Given the description of an element on the screen output the (x, y) to click on. 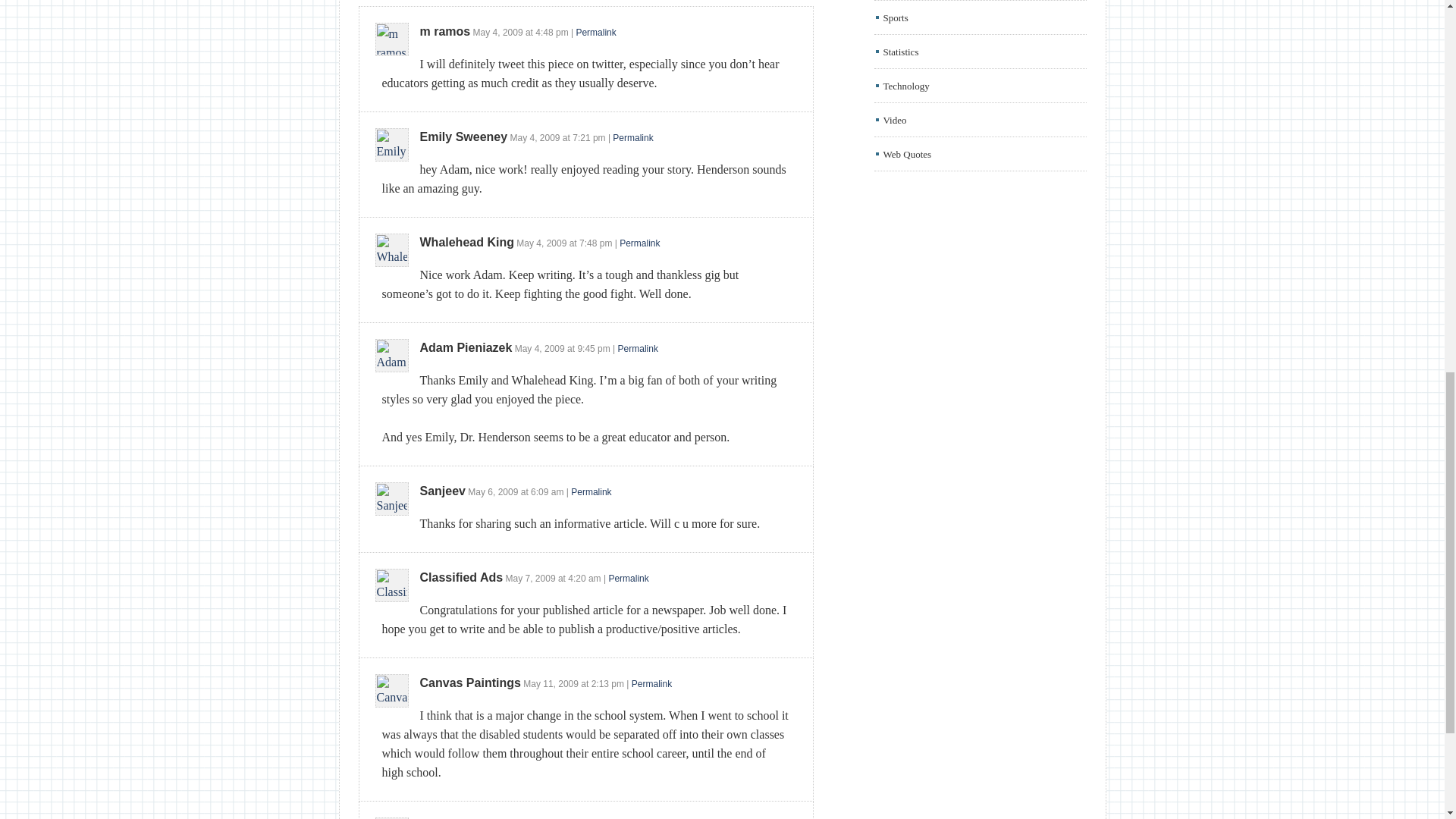
Permalink (627, 578)
Permalink (632, 137)
Whalehead King (466, 241)
Permalink (590, 491)
Permalink to comment 28036 (595, 32)
Monday, May 4th, 2009, 4:48 pm (551, 32)
Classified Ads (461, 576)
m ramos (445, 31)
Emily Sweeney (464, 136)
Adam Pieniazek (466, 347)
Sanjeev (442, 490)
Monday, May 4th, 2009, 4:48 pm (497, 32)
Permalink (637, 348)
Permalink (651, 683)
Permalink (639, 243)
